Given the description of an element on the screen output the (x, y) to click on. 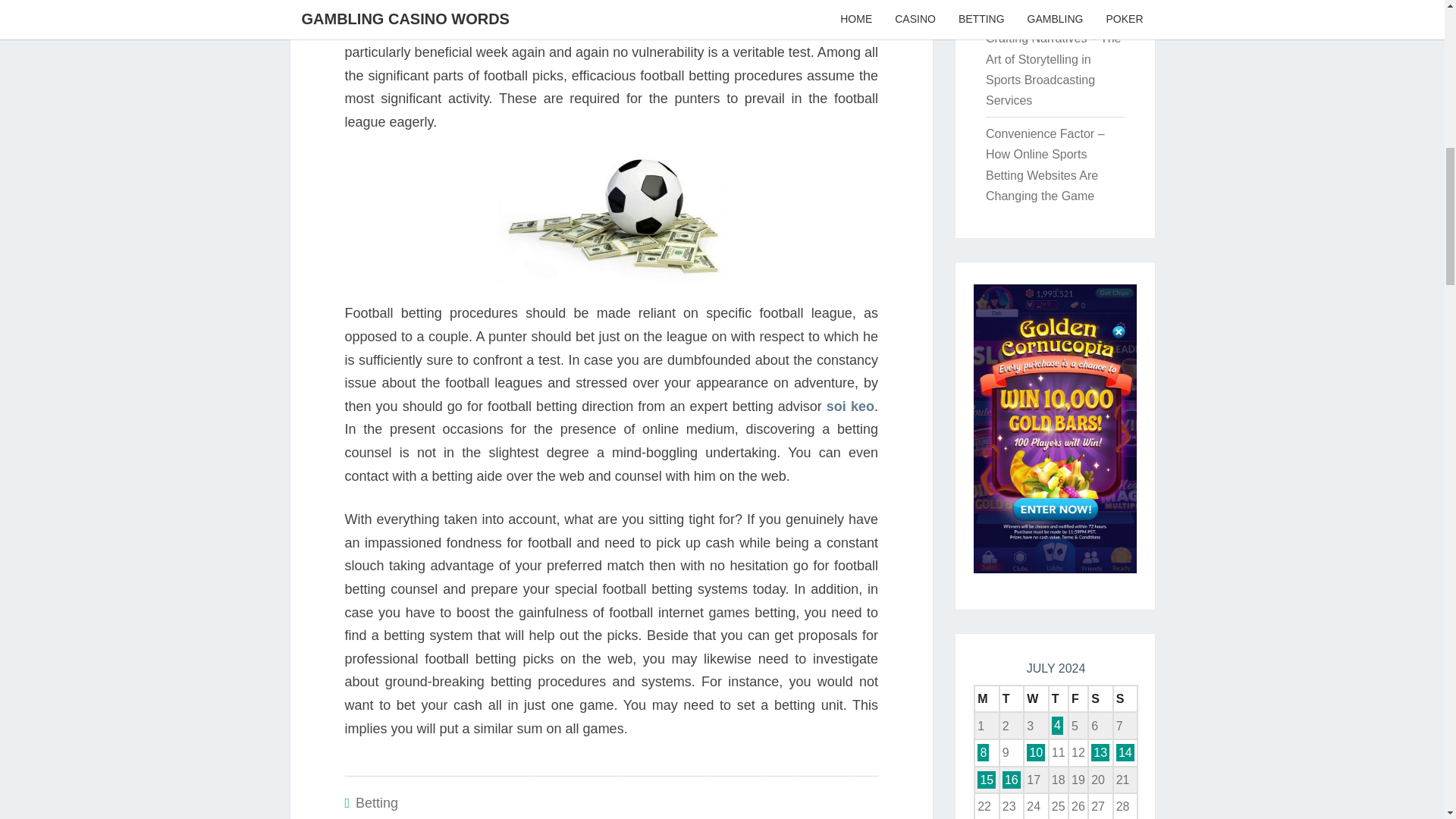
10 (1035, 752)
Betting (376, 802)
Saturday (1100, 698)
16 (1011, 779)
Wednesday (1035, 698)
13 (1099, 752)
14 (1125, 752)
Sunday (1125, 698)
Monday (986, 698)
soi keo (851, 406)
15 (985, 779)
Tuesday (1011, 698)
